Given the description of an element on the screen output the (x, y) to click on. 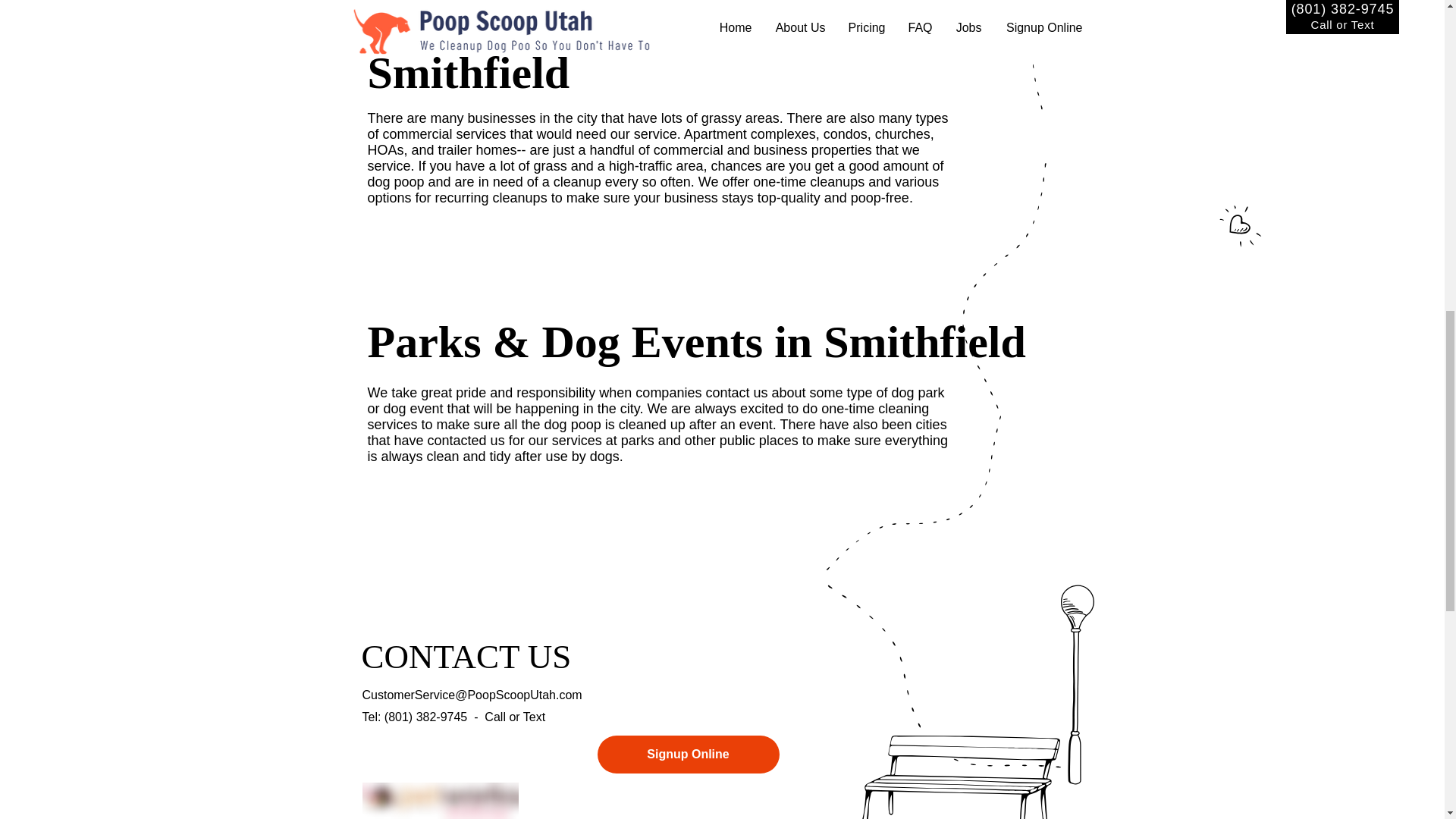
Signup Online (687, 754)
